Given the description of an element on the screen output the (x, y) to click on. 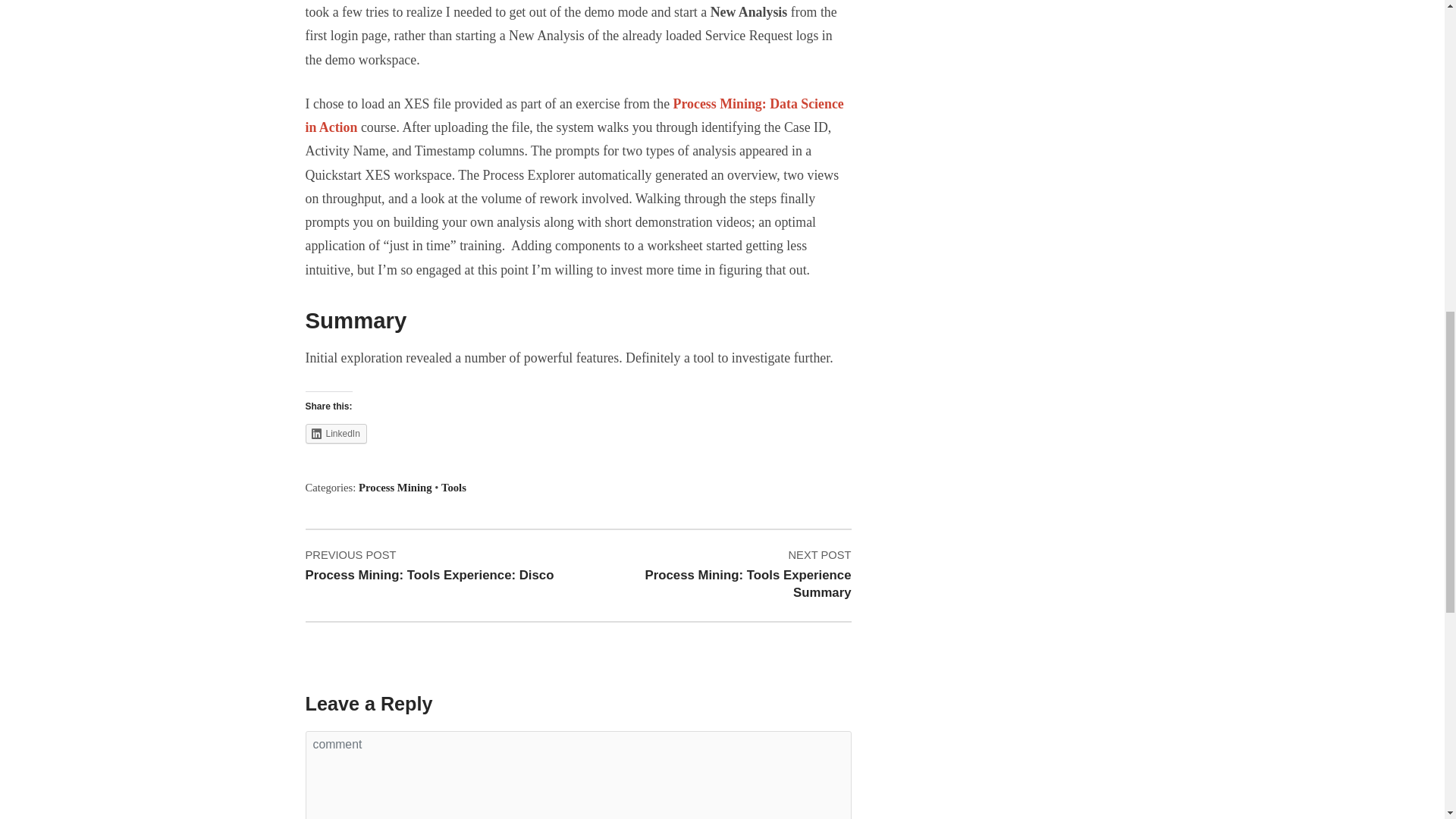
Click to share on LinkedIn (335, 433)
Process Mining: Data Science in Action (573, 115)
LinkedIn (335, 433)
Tools (724, 574)
Process Mining (453, 487)
